Given the description of an element on the screen output the (x, y) to click on. 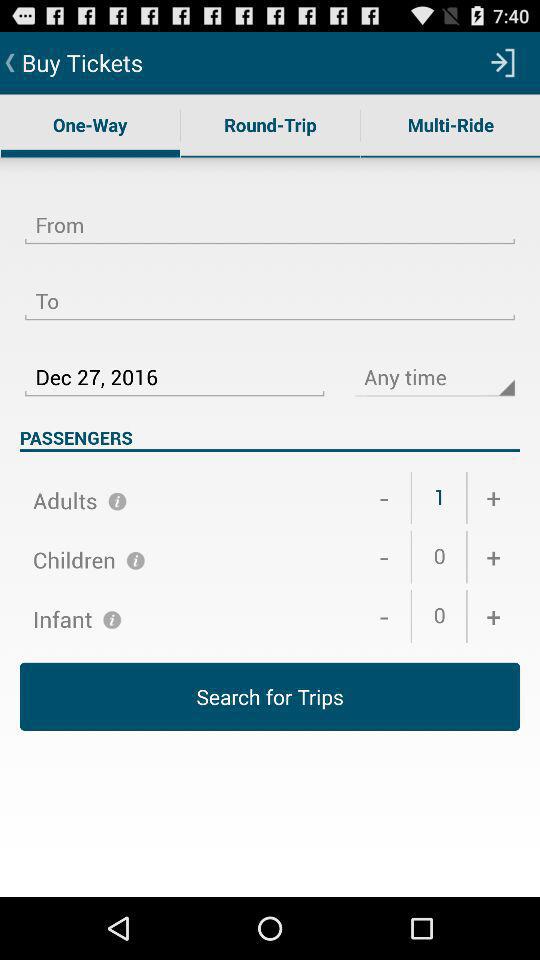
from text box (269, 213)
